Given the description of an element on the screen output the (x, y) to click on. 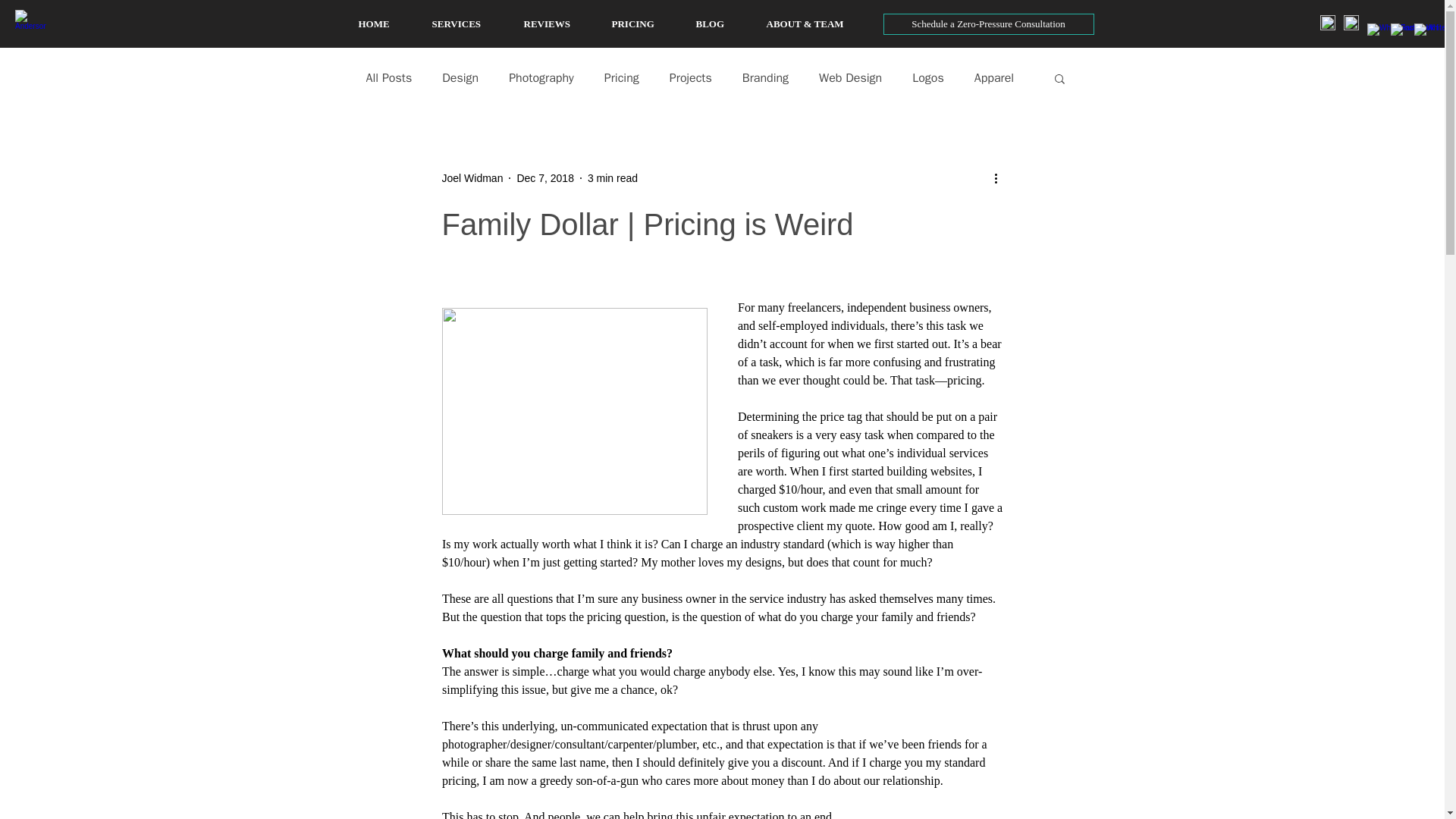
PRICING (645, 24)
Design (460, 77)
Dec 7, 2018 (544, 177)
BLOG (723, 24)
All Posts (388, 77)
REVIEWS (559, 24)
Joel Widman (471, 177)
HOME (386, 24)
3 min read (612, 177)
Schedule a Zero-Pressure Consultation (987, 24)
